Given the description of an element on the screen output the (x, y) to click on. 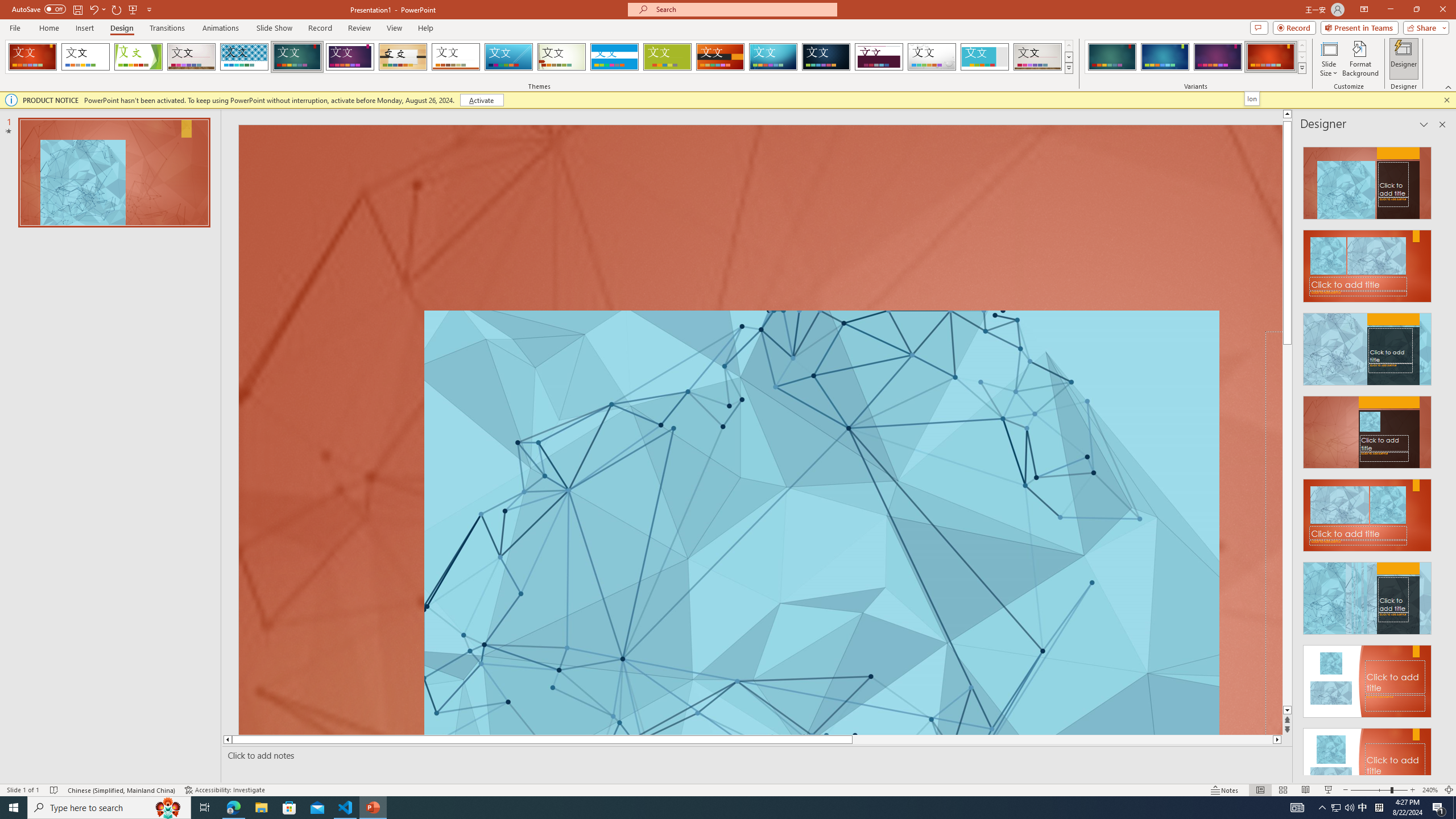
Damask (826, 56)
Ion Variant 1 (1112, 56)
Activate (481, 100)
